Given the description of an element on the screen output the (x, y) to click on. 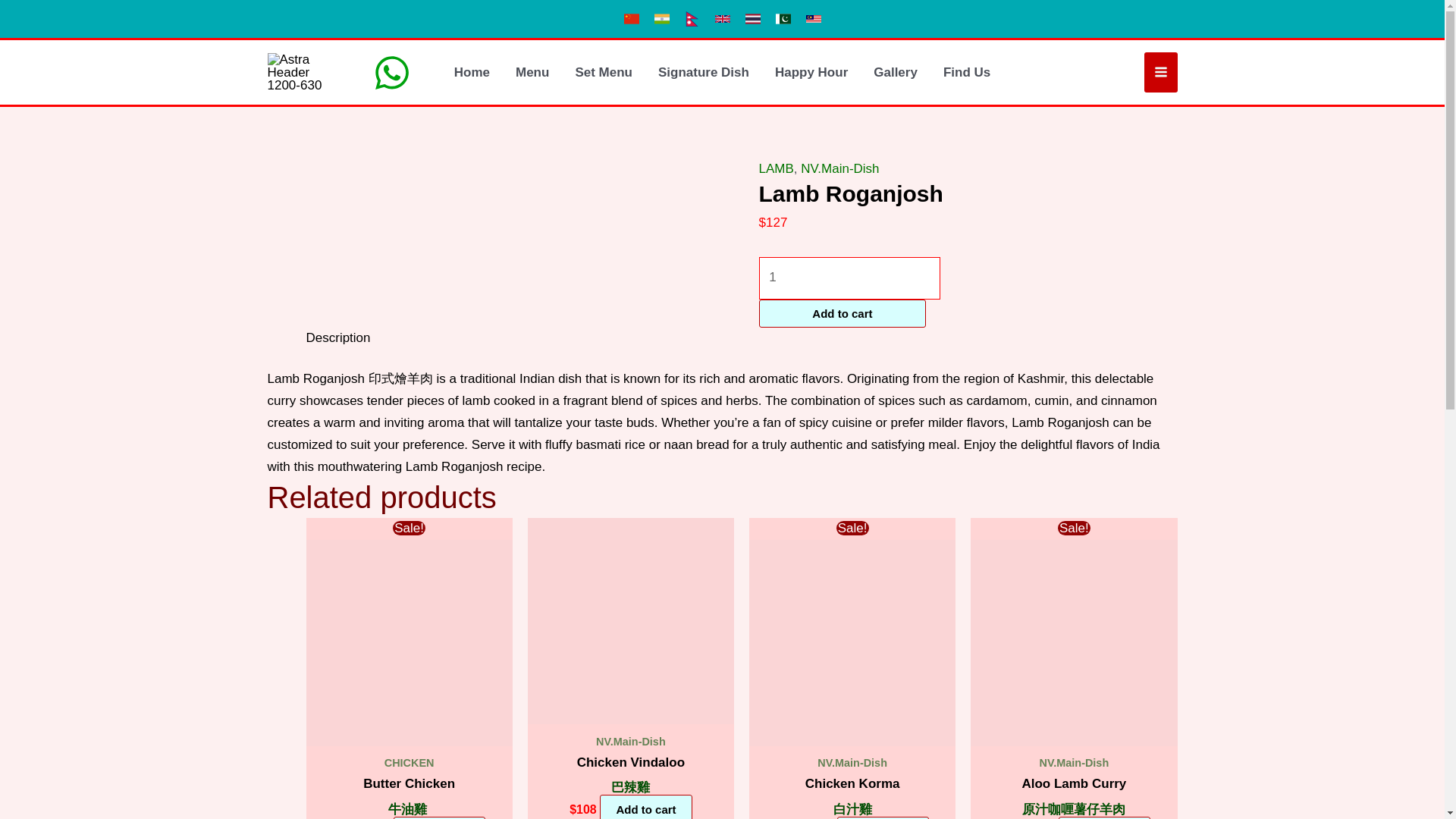
Menu (532, 71)
Add to cart (438, 817)
Add to cart (842, 313)
Add to cart (645, 806)
Happy Hour (810, 71)
Gallery (895, 71)
Butter Chicken (408, 783)
LAMB (775, 168)
NV.Main-Dish (839, 168)
